Given the description of an element on the screen output the (x, y) to click on. 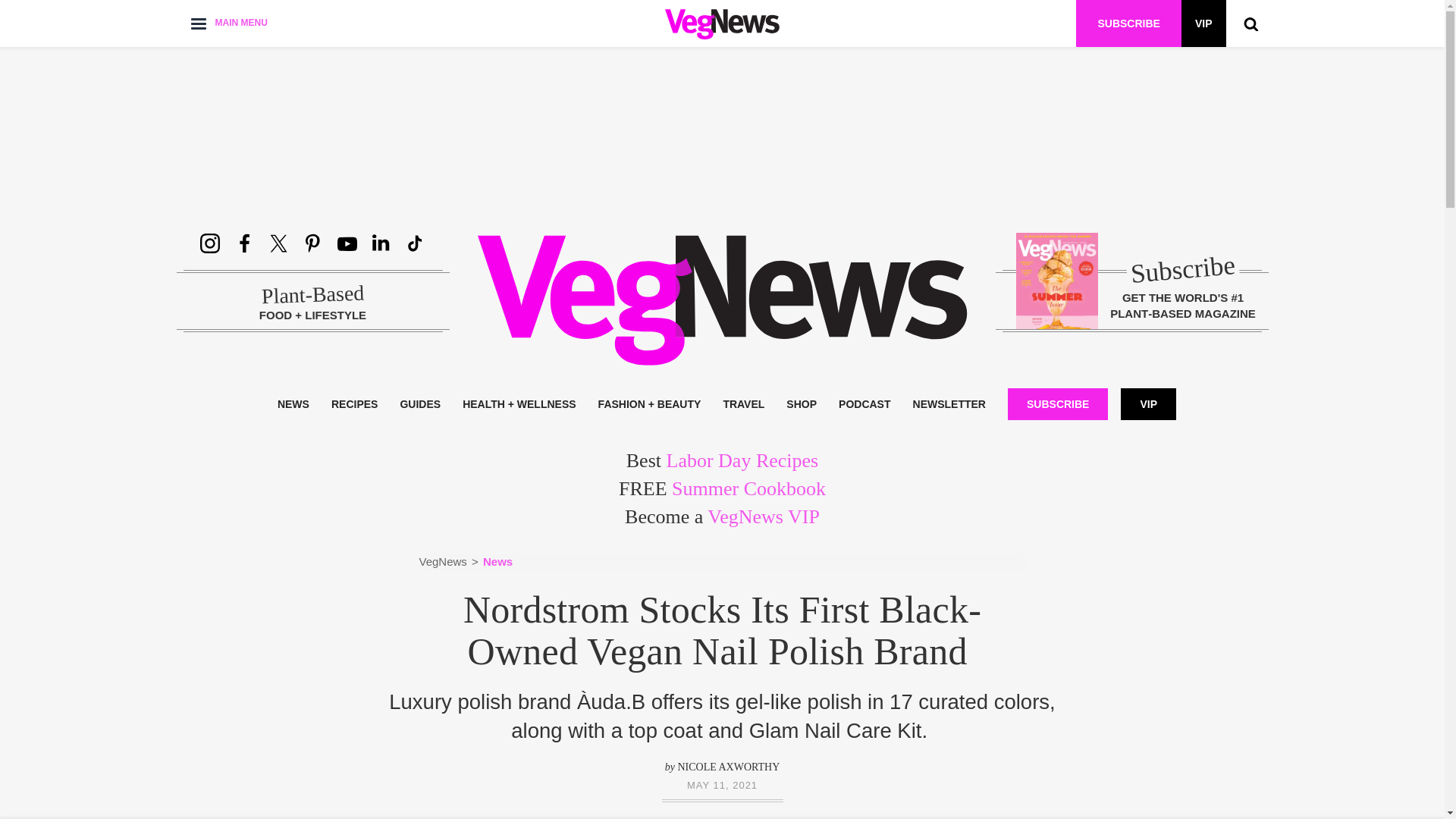
MAIN MENU (228, 23)
Show search (1250, 22)
Become a VIP (1202, 23)
